Given the description of an element on the screen output the (x, y) to click on. 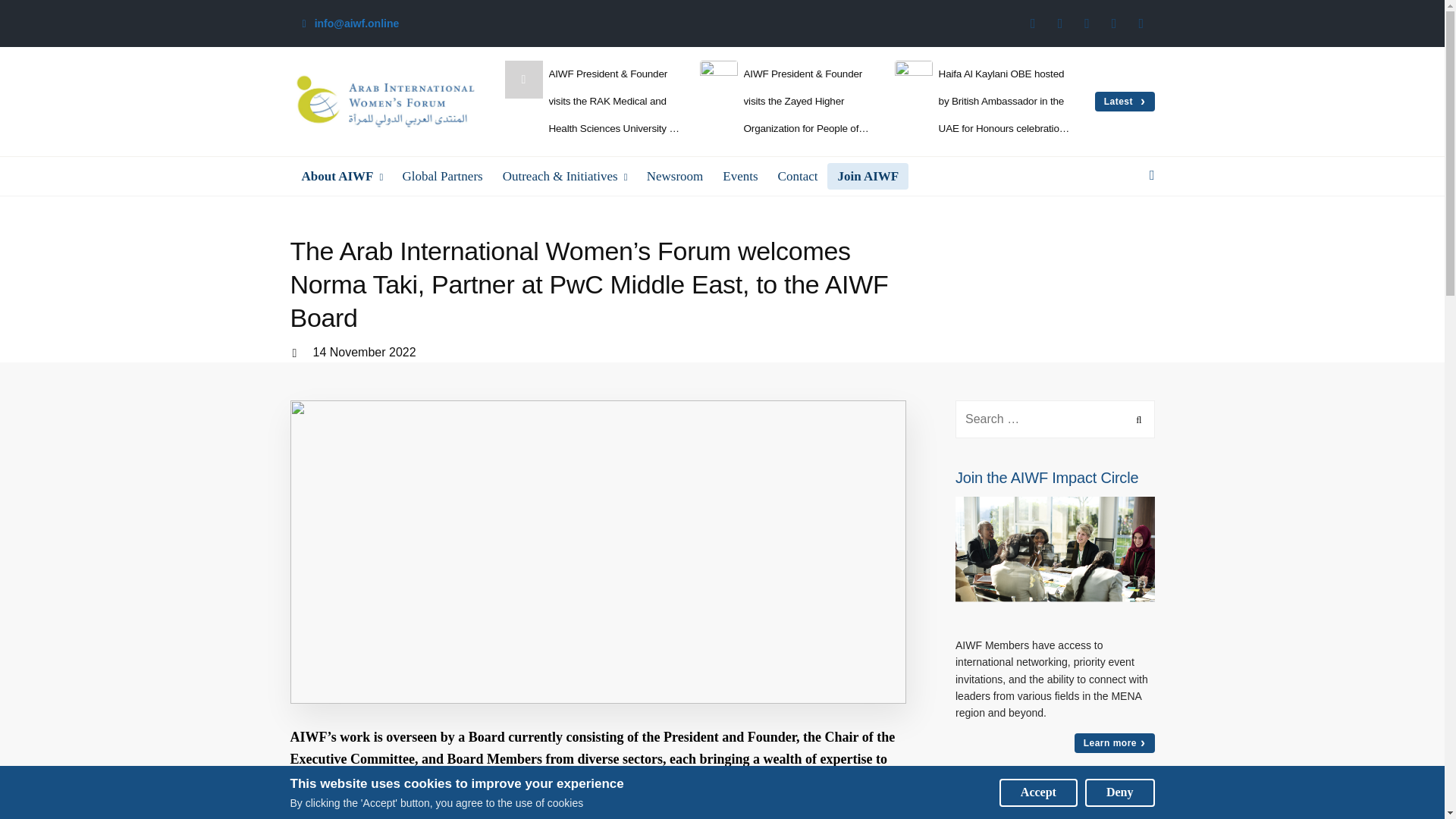
Join AIWF (867, 175)
Global Partners (441, 175)
Search (1136, 419)
Youtube (1140, 24)
Twitter (1060, 24)
Search (1136, 419)
Instagram (1087, 24)
Newsroom (675, 175)
Events (740, 175)
